Given the description of an element on the screen output the (x, y) to click on. 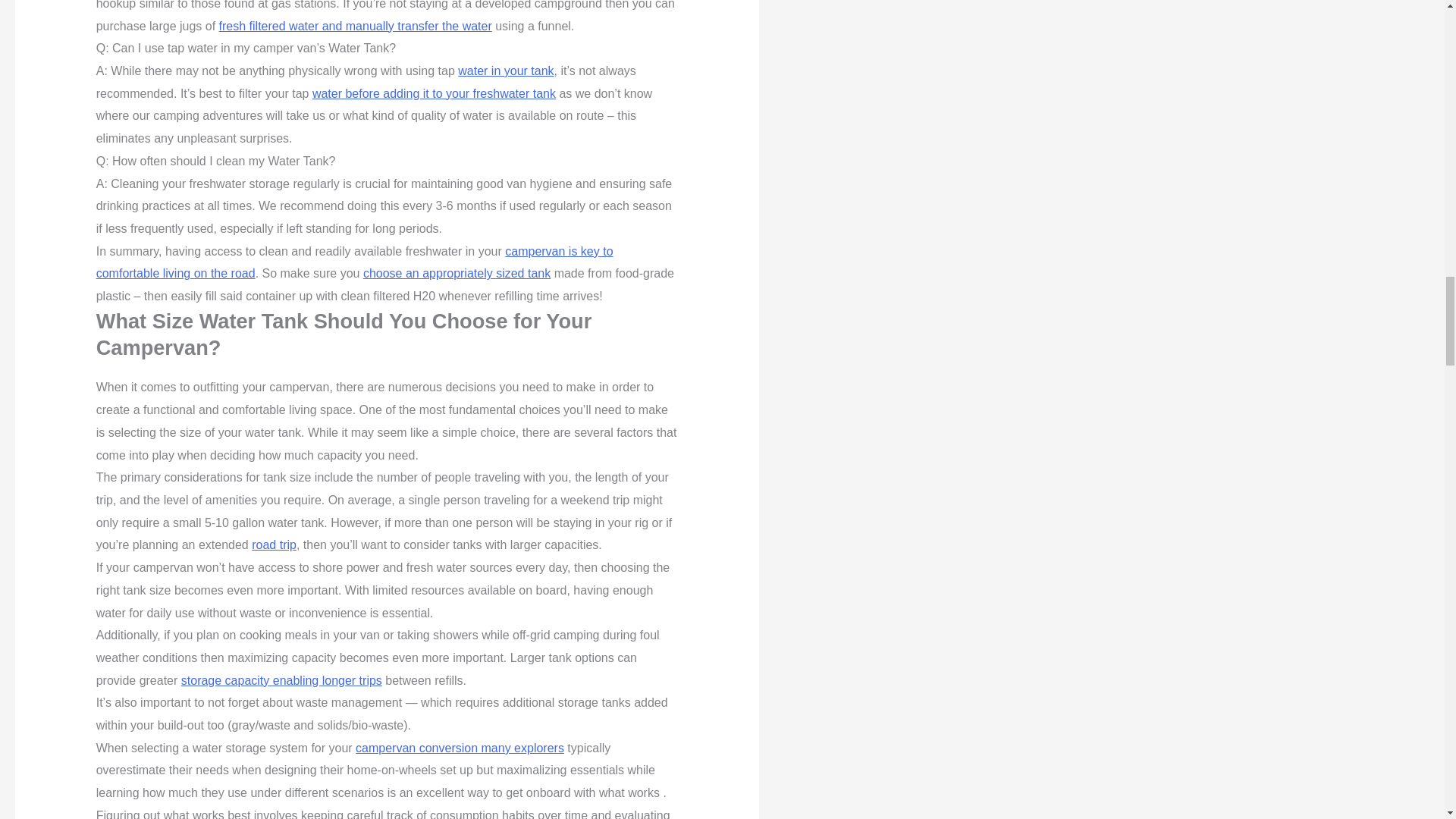
fresh filtered water and manually transfer the water (355, 25)
water before adding it to your freshwater tank (434, 92)
water in your tank (505, 70)
road trip (274, 544)
campervan conversion many explorers (459, 748)
choose an appropriately sized tank (456, 273)
storage capacity enabling longer trips (280, 680)
campervan is key to comfortable living on the road (354, 262)
